Given the description of an element on the screen output the (x, y) to click on. 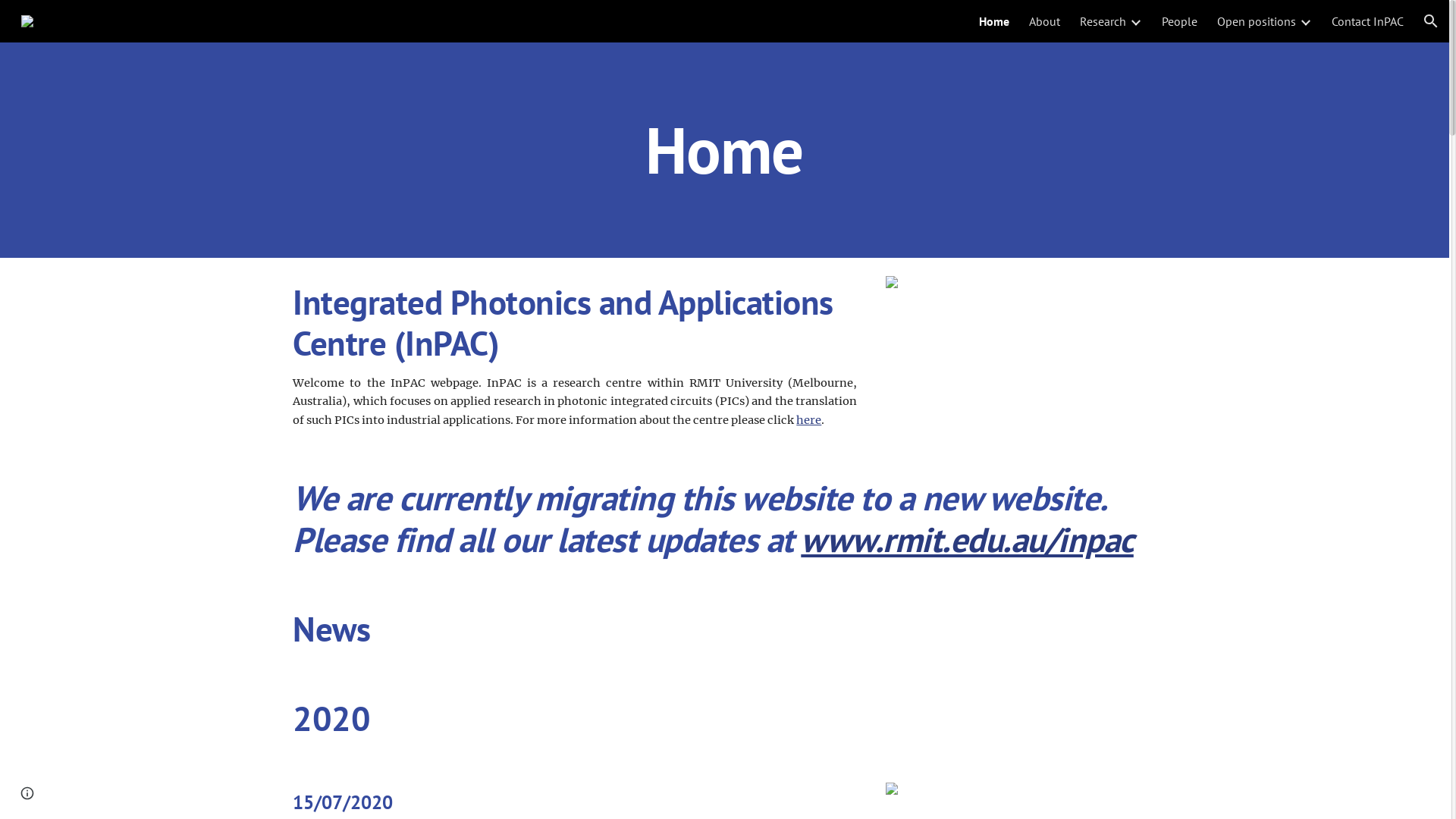
Expand/Collapse Element type: hover (1135, 20)
Open positions Element type: text (1256, 20)
www.rmit.edu.au/inpac Element type: text (966, 539)
Research Element type: text (1102, 20)
People Element type: text (1179, 20)
About Element type: text (1044, 20)
Expand/Collapse Element type: hover (1304, 20)
Home Element type: text (994, 20)
Contact InPAC Element type: text (1367, 20)
here Element type: text (808, 419)
